Given the description of an element on the screen output the (x, y) to click on. 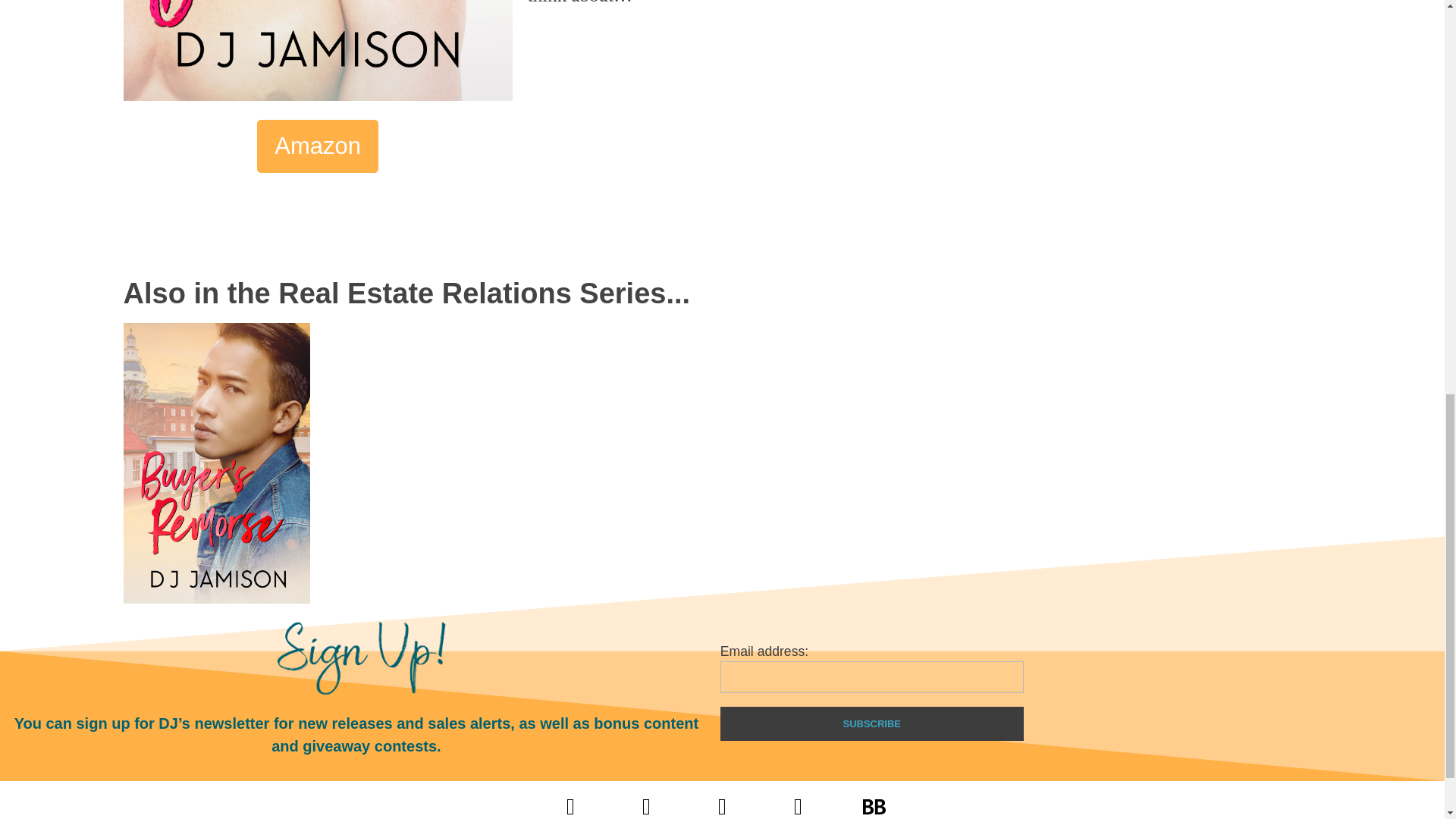
Subscribe (871, 723)
Subscribe (871, 723)
Amazon (317, 146)
